Given the description of an element on the screen output the (x, y) to click on. 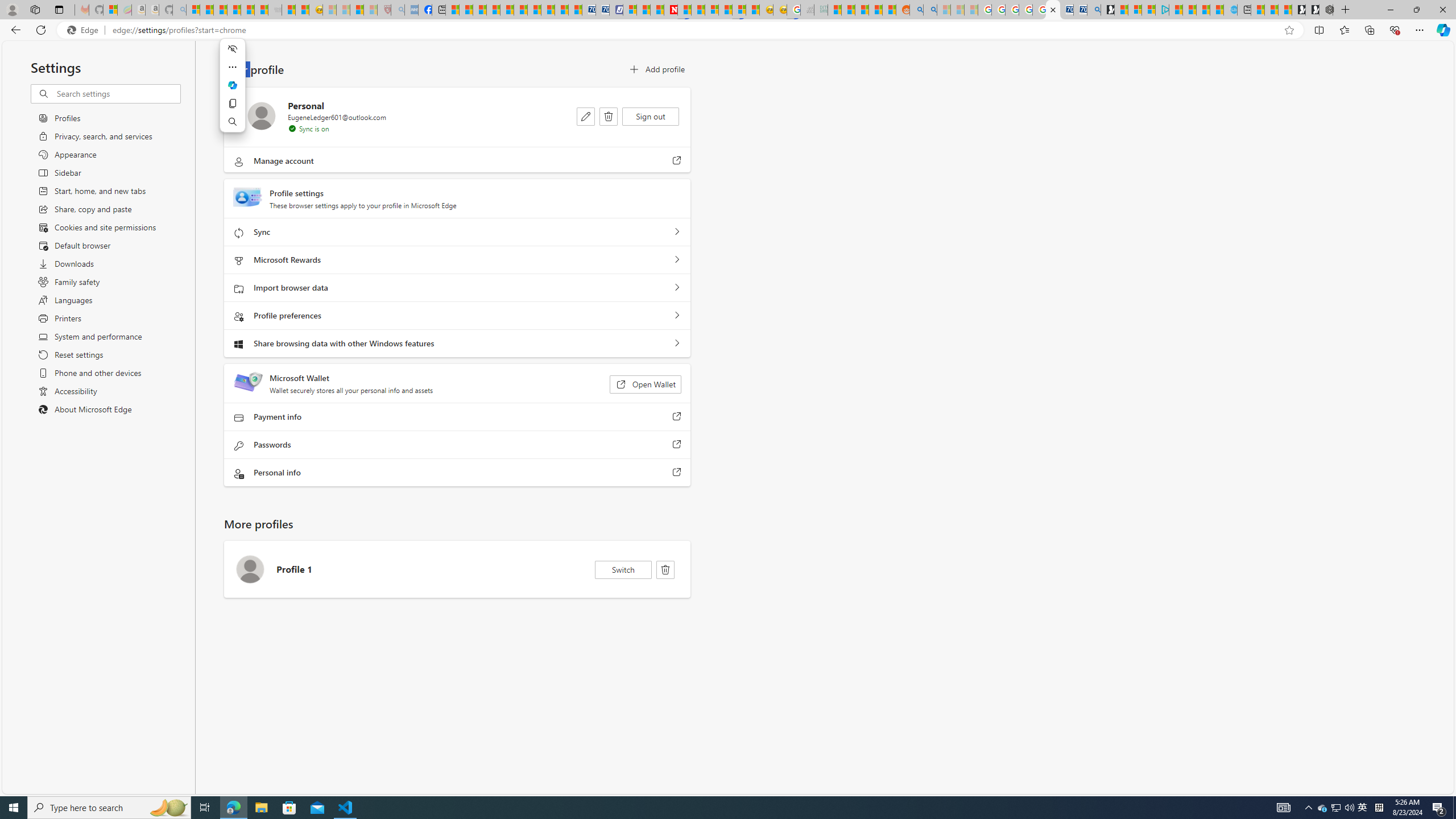
Personal Avatar icon (261, 116)
Hide menu (231, 49)
Copy (231, 103)
Manage account (676, 160)
Share browsing data with other Windows features (676, 343)
Play Free Online Games | Games from Microsoft Start (1311, 9)
